Given the description of an element on the screen output the (x, y) to click on. 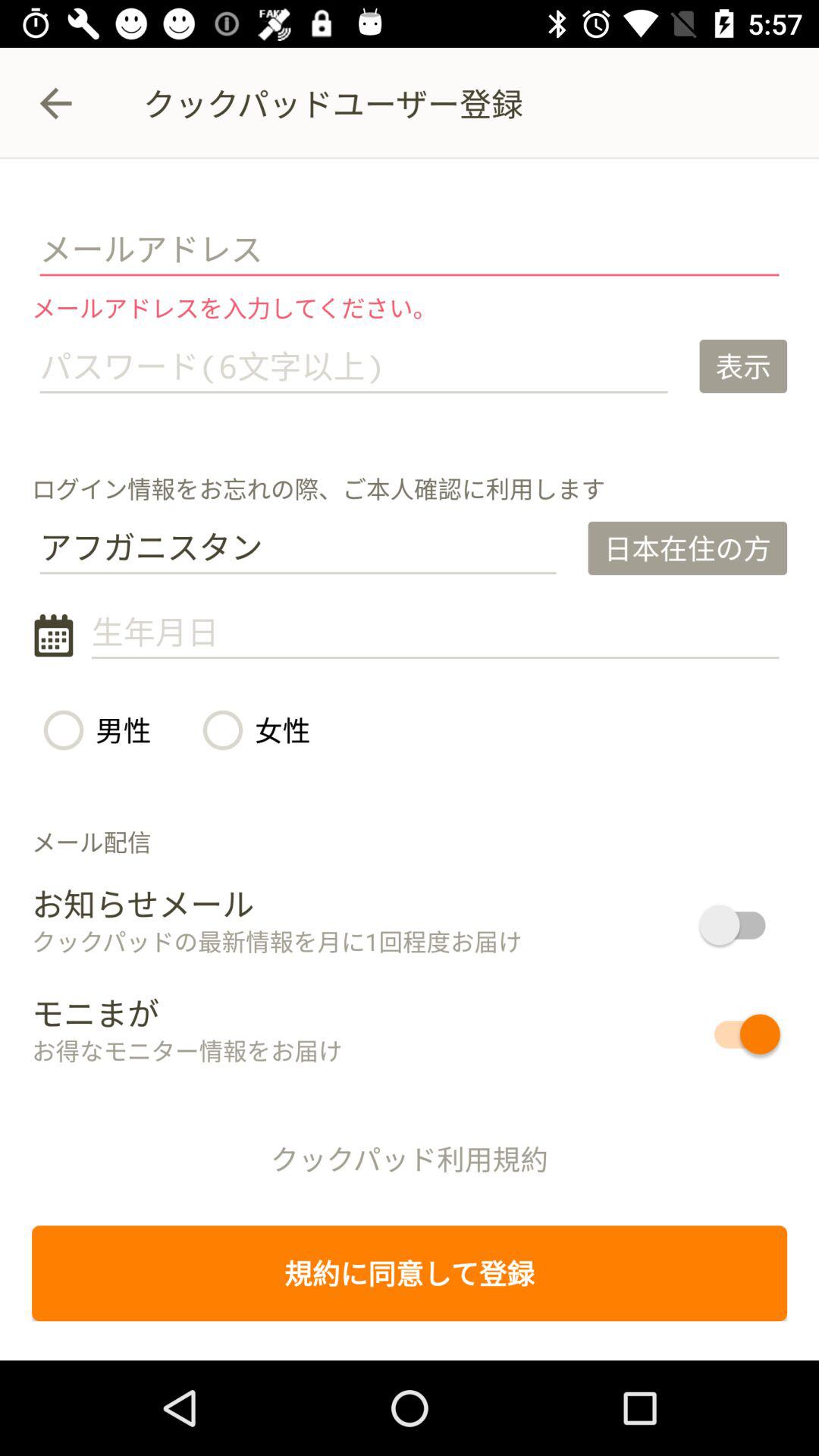
open the icon at the top right corner (743, 366)
